Given the description of an element on the screen output the (x, y) to click on. 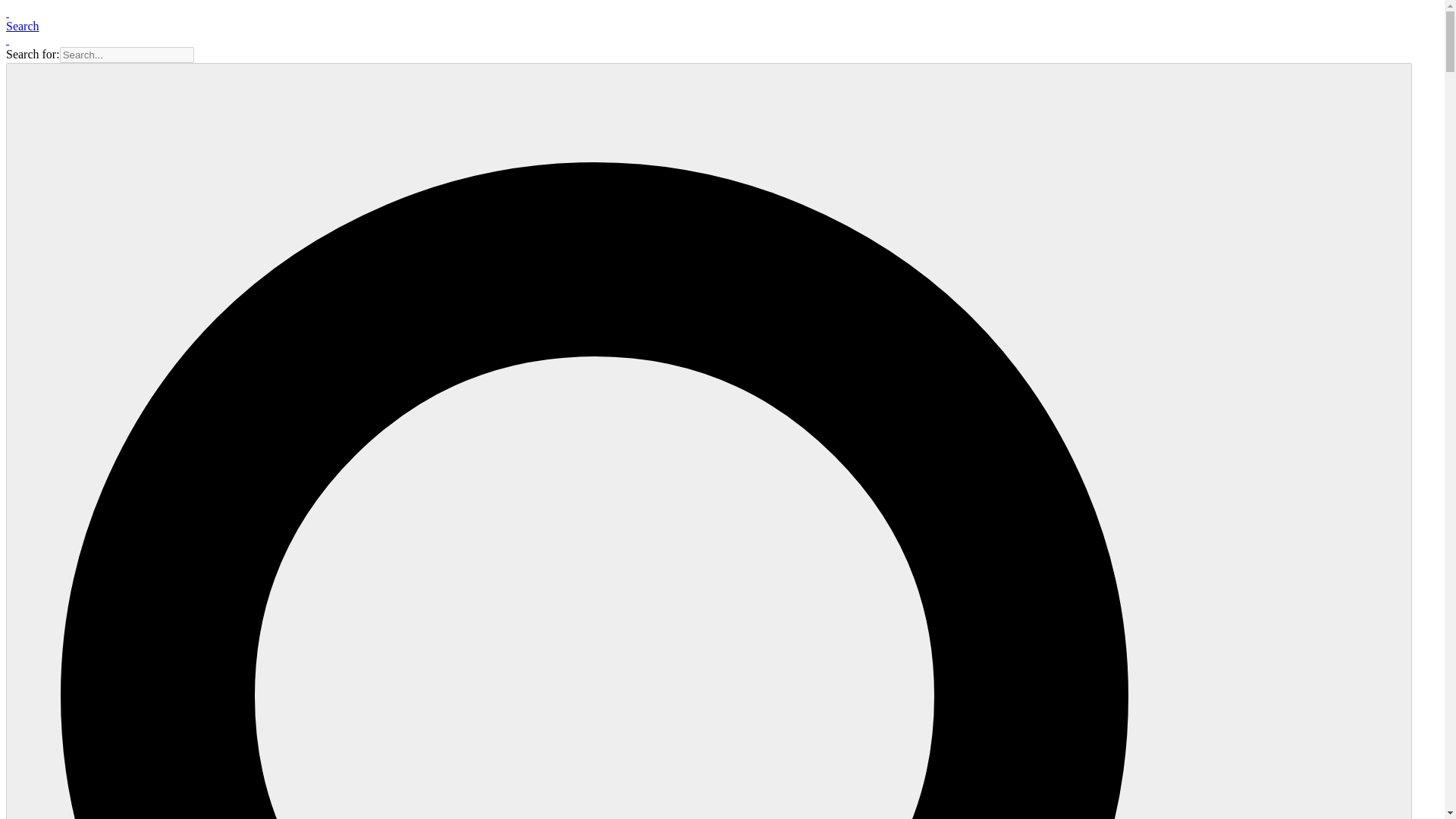
Search for: (126, 54)
Search (22, 25)
